Given the description of an element on the screen output the (x, y) to click on. 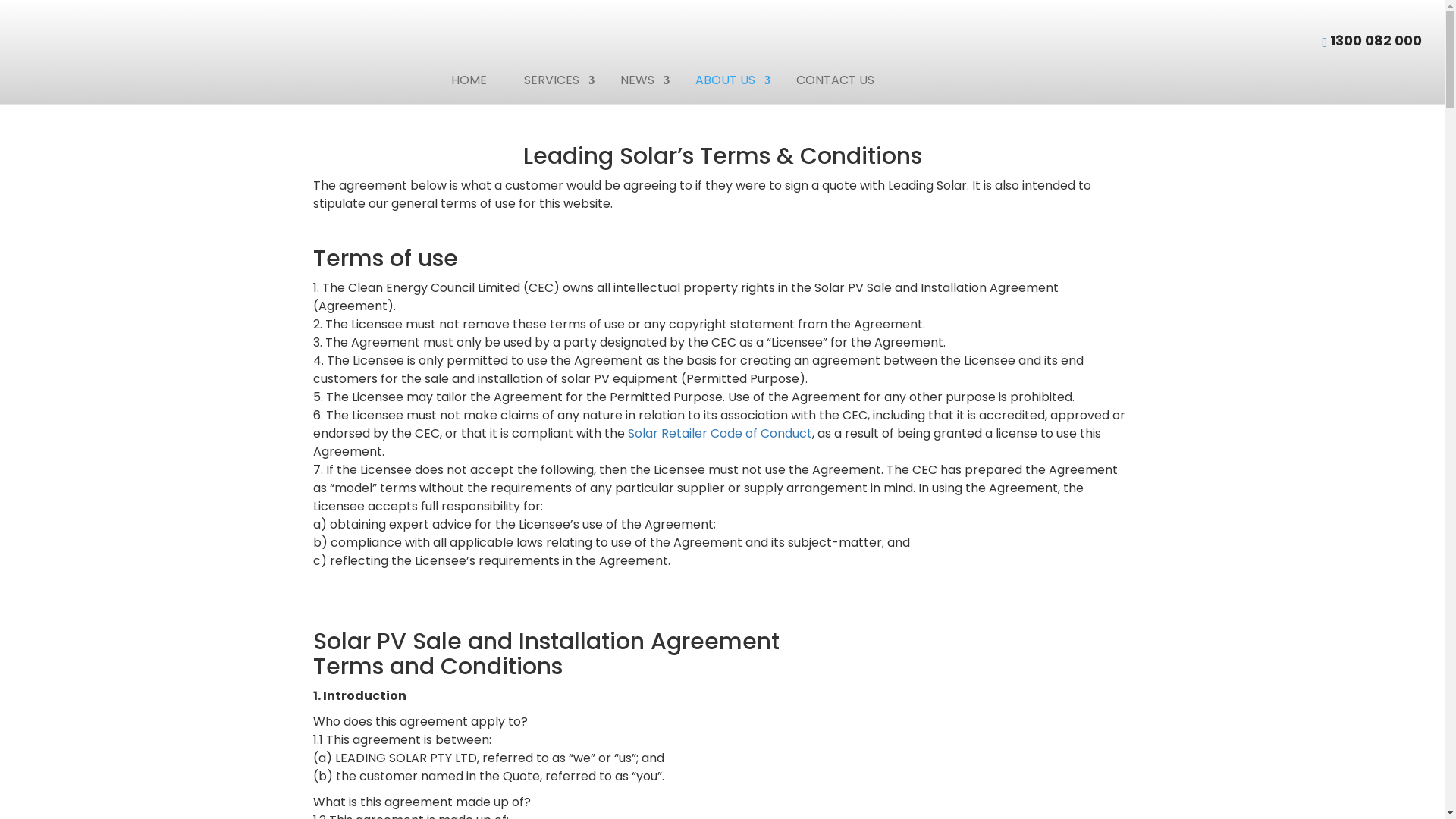
HOME Element type: text (468, 80)
SERVICES Element type: text (553, 80)
Solar Retailer Code of Conduct Element type: text (719, 433)
1300 082 000 Element type: text (1375, 40)
NEWS Element type: text (638, 80)
CONTACT US Element type: text (834, 80)
ABOUT US Element type: text (727, 80)
